Given the description of an element on the screen output the (x, y) to click on. 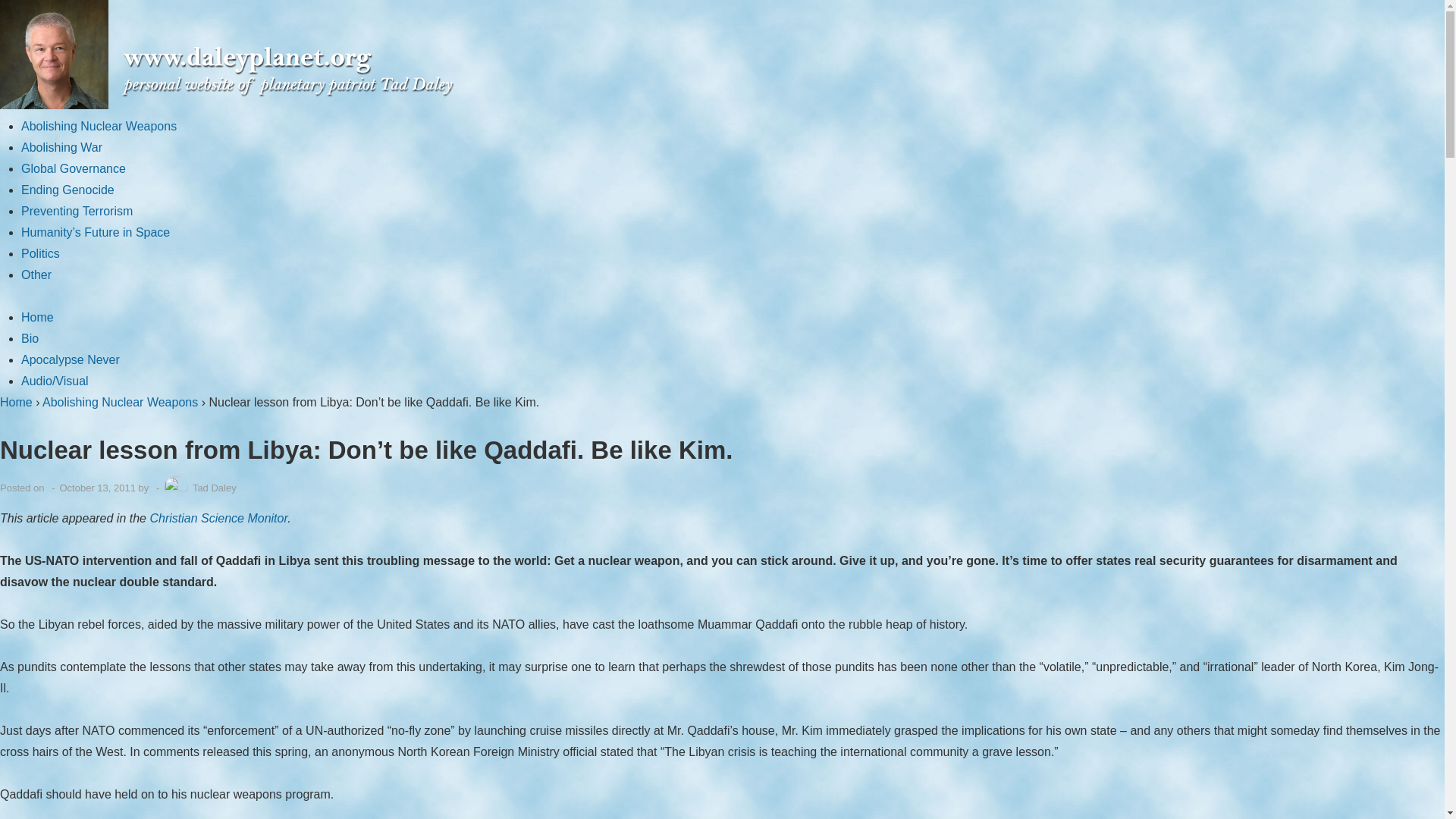
Other (35, 274)
Preventing Terrorism (76, 210)
Global Governance (73, 168)
Apocalypse Never (70, 359)
October 13, 2011 (97, 487)
Abolishing Nuclear Weapons (120, 401)
Politics (40, 253)
Tad Daley (199, 487)
Home (16, 401)
Bio (30, 338)
